Given the description of an element on the screen output the (x, y) to click on. 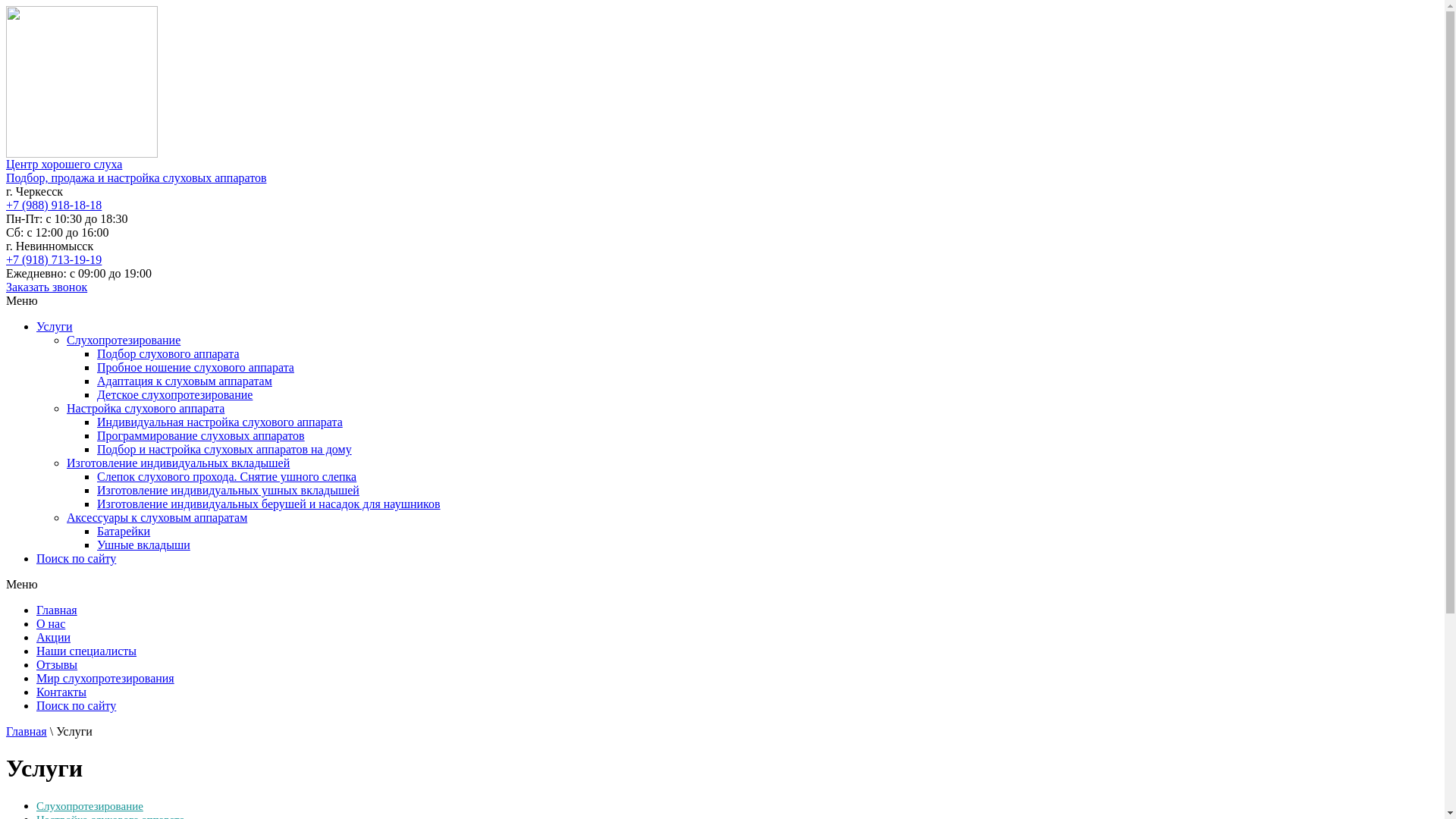
+7 (988) 918-18-18 Element type: text (53, 204)
+7 (918) 713-19-19 Element type: text (53, 259)
